Given the description of an element on the screen output the (x, y) to click on. 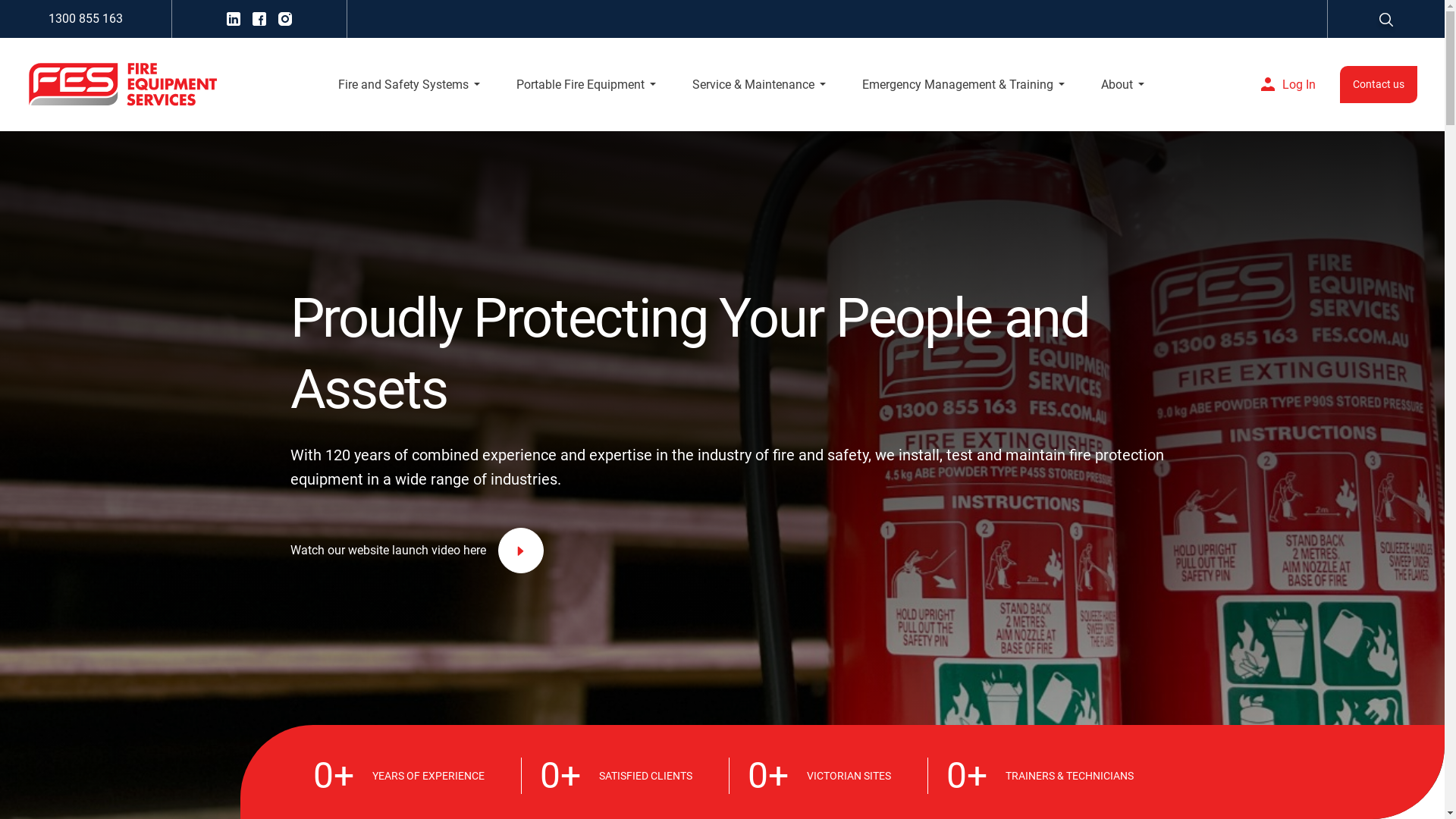
Service & Maintenance Element type: text (758, 84)
Emergency Management & Training Element type: text (963, 84)
1300 855 163 Element type: text (86, 18)
Fire and Safety Systems Element type: text (409, 84)
Log In Element type: text (1284, 83)
Portable Fire Equipment Element type: text (585, 84)
Contact us Element type: text (1378, 83)
Watch our website launch video here Element type: text (749, 550)
About Element type: text (1122, 84)
